Given the description of an element on the screen output the (x, y) to click on. 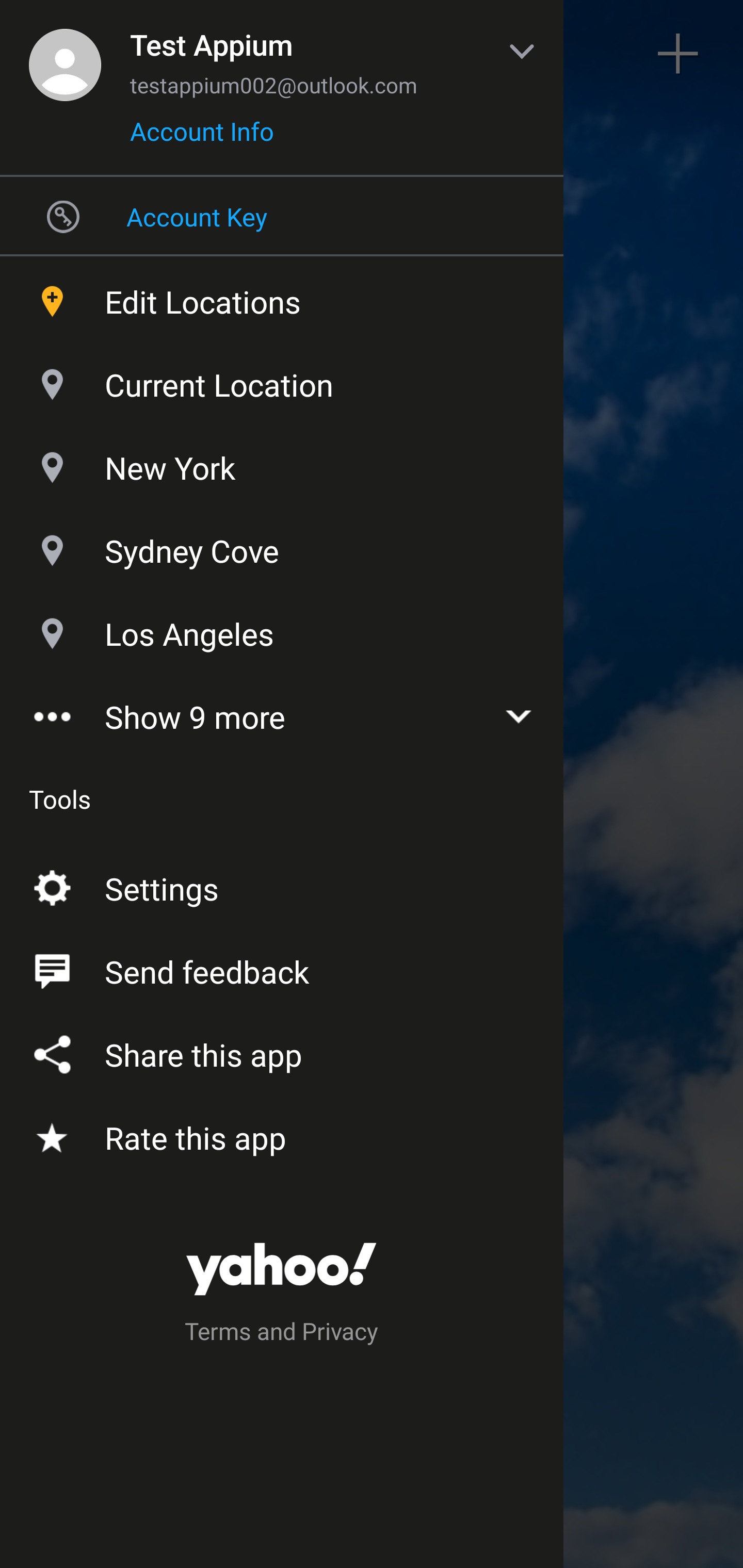
Sidebar (64, 54)
Account Info (202, 137)
Account Key (281, 216)
Edit Locations (281, 296)
Current Location (281, 379)
New York (281, 462)
Sydney Cove (281, 546)
Los Angeles (281, 629)
Settings (281, 884)
Send feedback (281, 967)
Share this app (281, 1050)
Terms and Privacy Terms and privacy button (281, 1334)
